Given the description of an element on the screen output the (x, y) to click on. 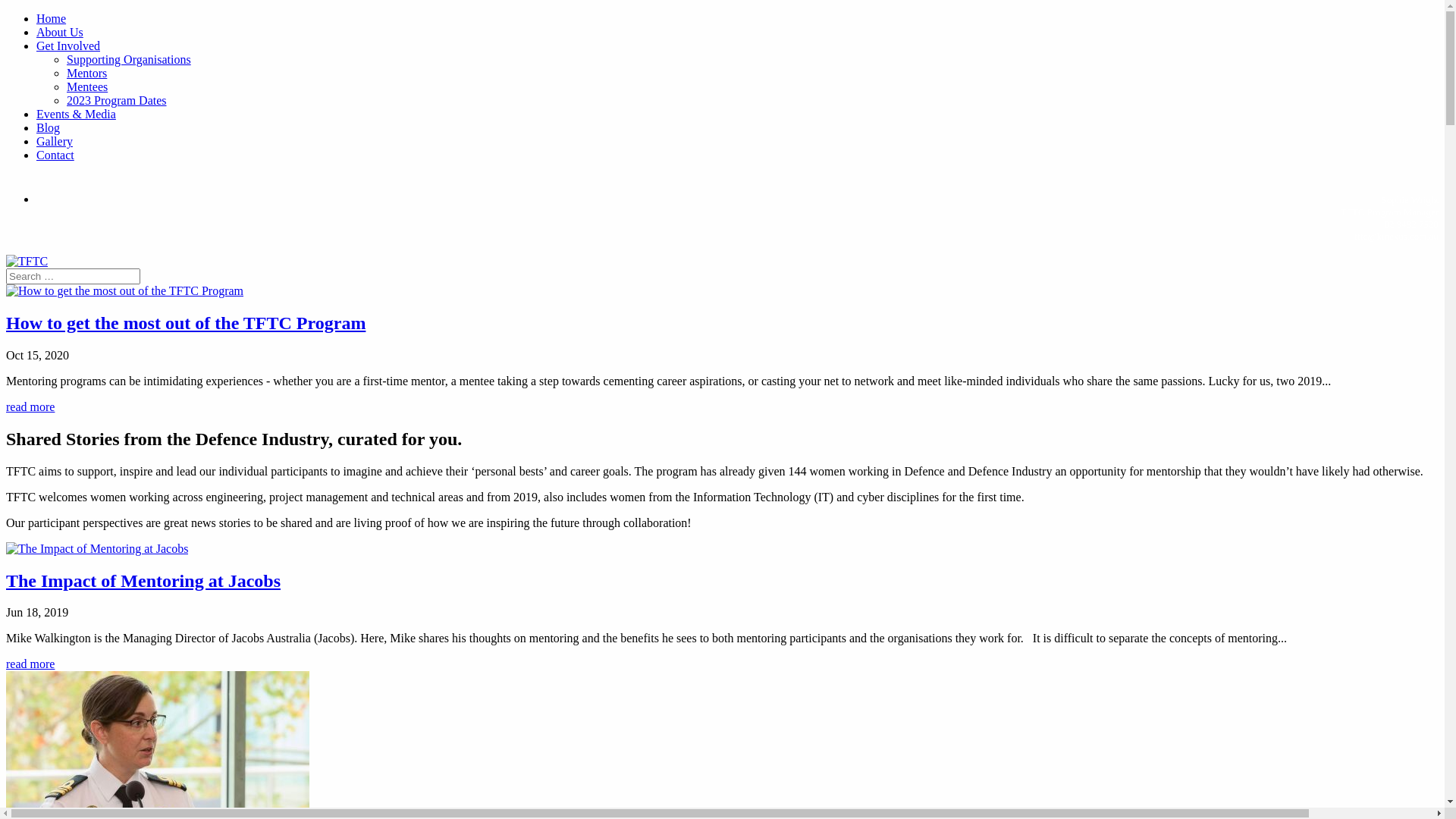
Blog Element type: text (47, 127)
Home Element type: text (50, 18)
Contact Element type: text (55, 154)
Supporting Organisations Element type: text (128, 59)
Gallery Element type: text (54, 140)
Mentees Element type: text (86, 86)
Get Involved Element type: text (68, 45)
read more Element type: text (30, 406)
Search for: Element type: hover (73, 276)
Events & Media Element type: text (76, 113)
The Impact of Mentoring at Jacobs Element type: text (143, 580)
About Us Element type: text (59, 31)
How to get the most out of the TFTC Program Element type: text (185, 322)
read more Element type: text (30, 663)
Mentors Element type: text (86, 72)
2023 Program Dates Element type: text (116, 100)
